Given the description of an element on the screen output the (x, y) to click on. 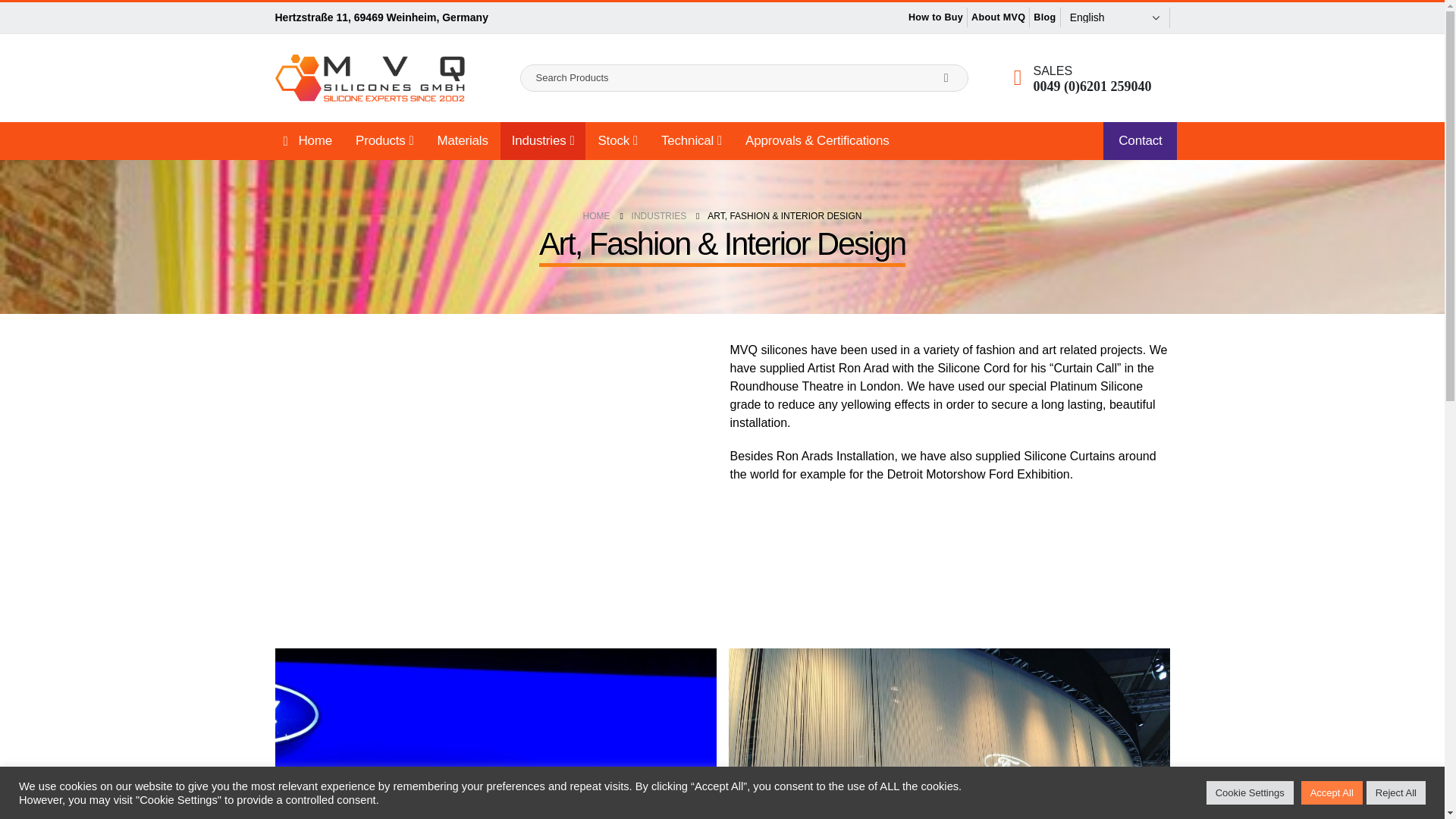
Ron Arad's Curtain Call (494, 464)
About MVQ (1106, 17)
Products (384, 139)
MVQ Silicones GmbH - High-quality silicone rubber products (369, 77)
Stock (617, 139)
Home (304, 139)
Blog (1152, 17)
Industries (543, 139)
How to Buy (1044, 17)
Search (946, 77)
